Given the description of an element on the screen output the (x, y) to click on. 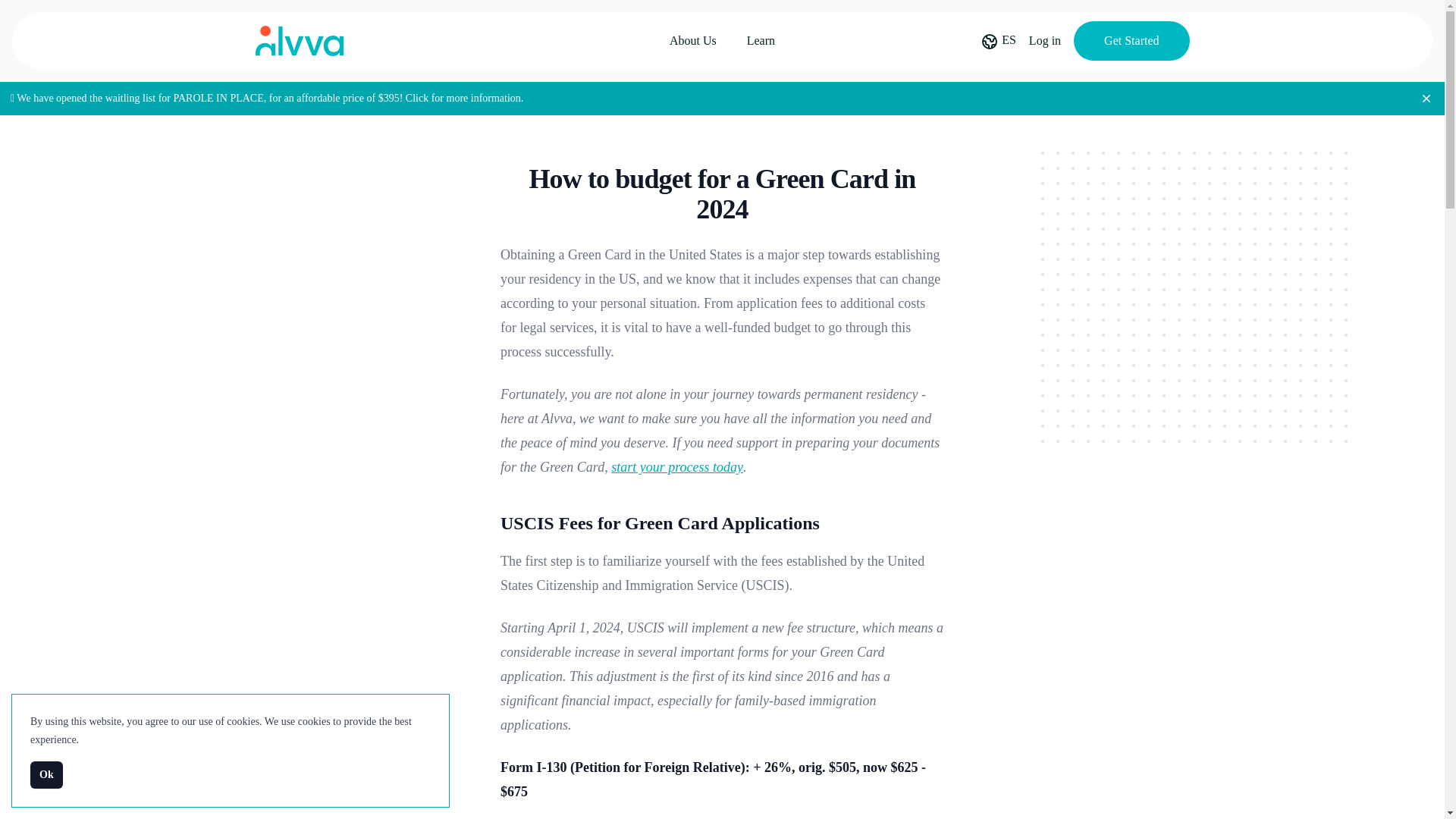
Log in (1045, 40)
Ok (46, 774)
home (298, 40)
Get Started (1131, 40)
About Us (692, 40)
ES (1008, 39)
Learn (760, 40)
start your process today (676, 467)
Dismiss (1425, 98)
